Given the description of an element on the screen output the (x, y) to click on. 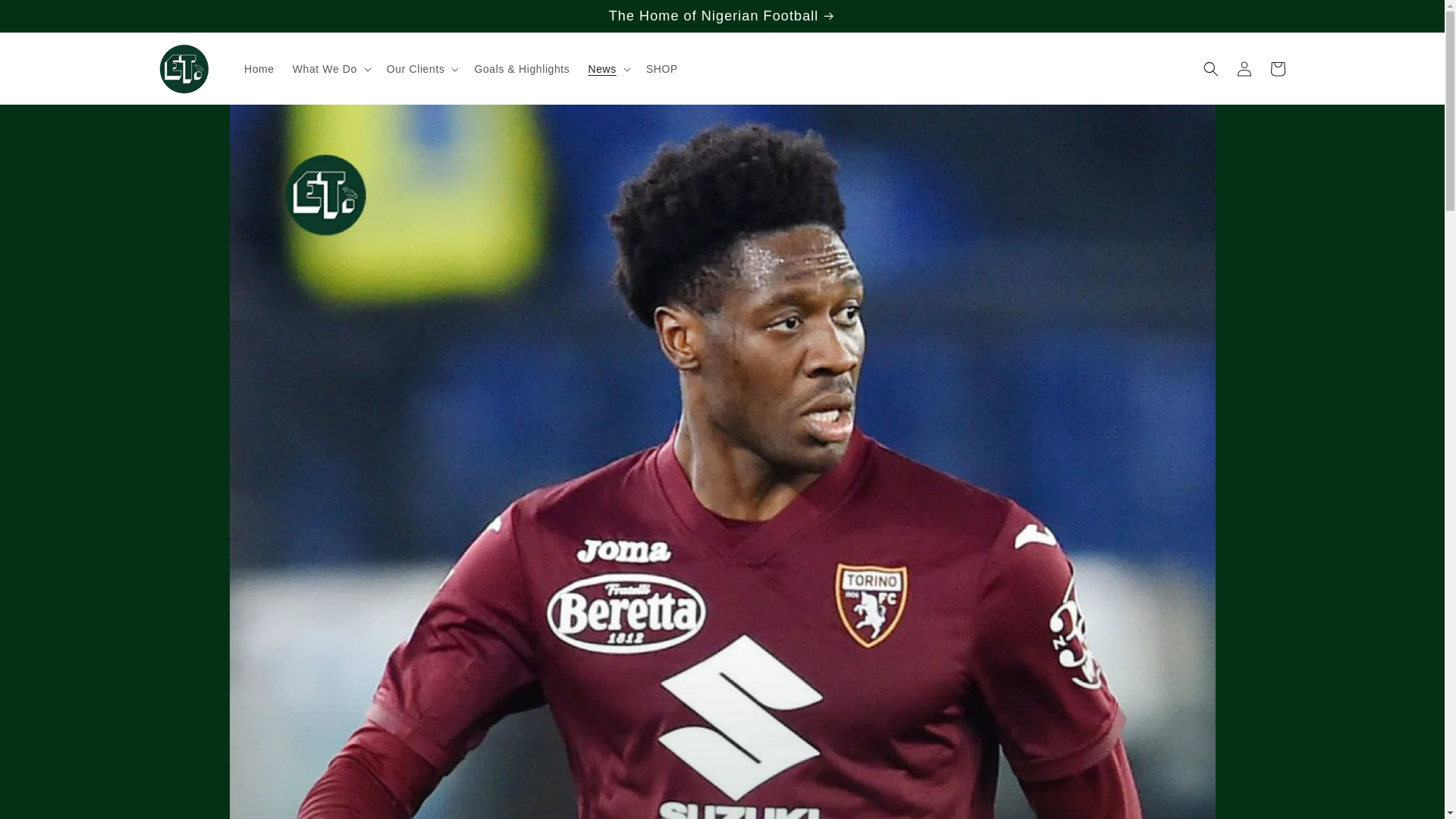
Home (258, 69)
Skip to content (45, 17)
The Home of Nigerian Football (721, 15)
